Given the description of an element on the screen output the (x, y) to click on. 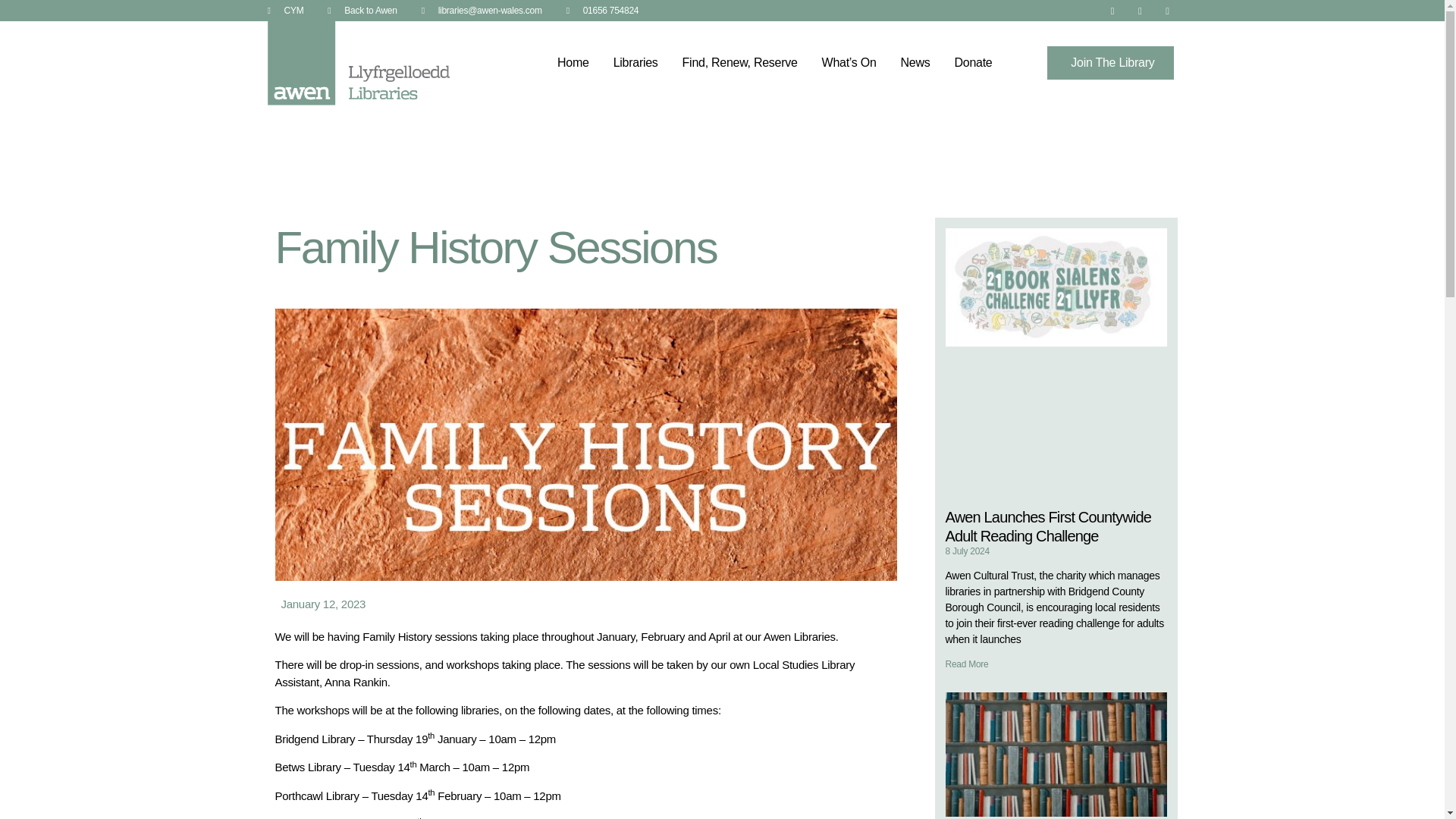
CYM (284, 10)
Libraries (635, 62)
Home (572, 62)
Donate (973, 62)
Back to Awen (361, 10)
News (915, 62)
01656 754824 (602, 10)
Find, Renew, Reserve (739, 62)
